Given the description of an element on the screen output the (x, y) to click on. 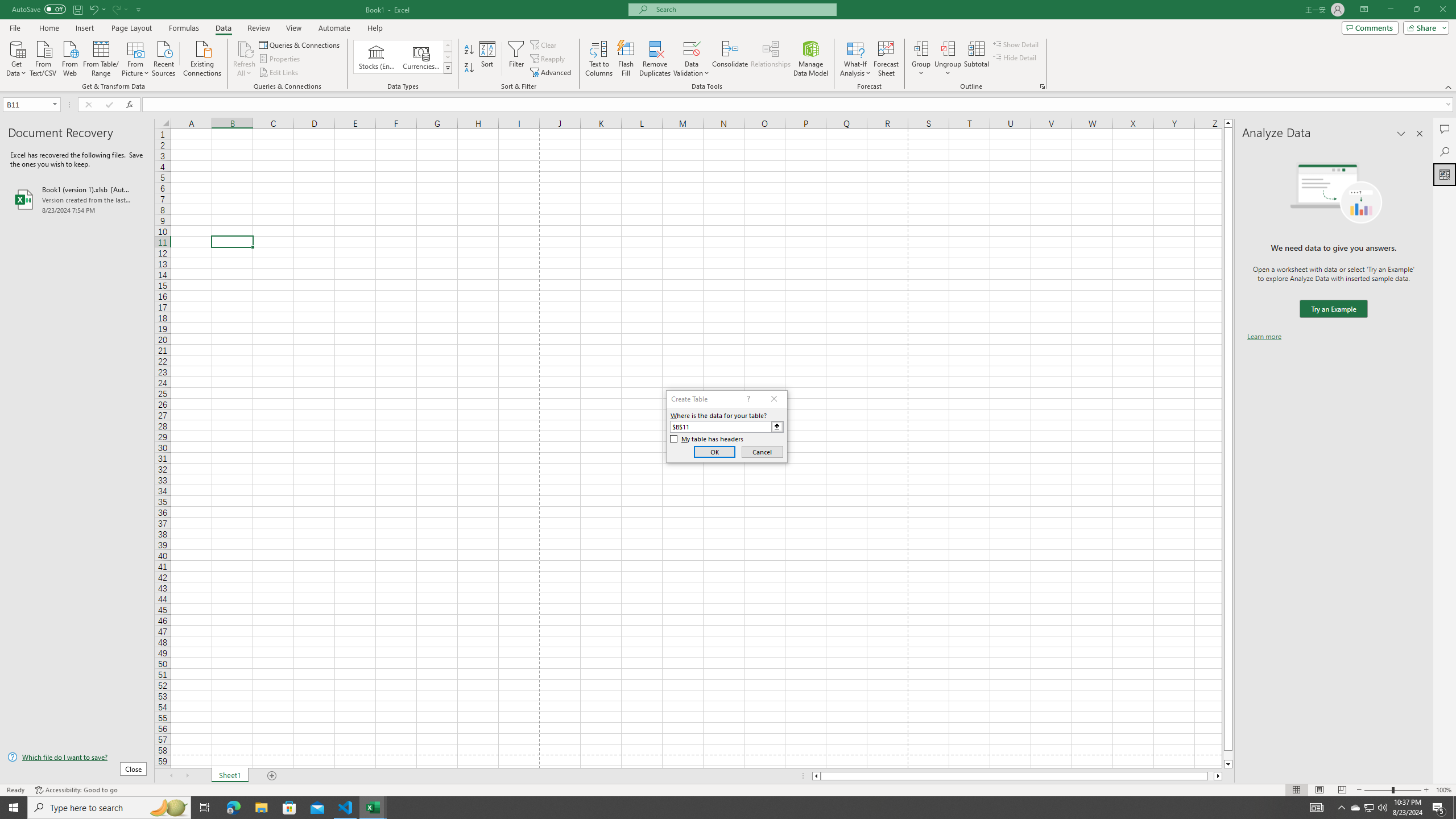
Refresh All (244, 58)
AutomationID: ConvertToLinkedEntity (403, 56)
Search (1444, 151)
Which file do I want to save? (77, 757)
Relationships (770, 58)
Edit Links (279, 72)
Sort... (487, 58)
Sort Z to A (469, 67)
Ungroup... (947, 58)
